Given the description of an element on the screen output the (x, y) to click on. 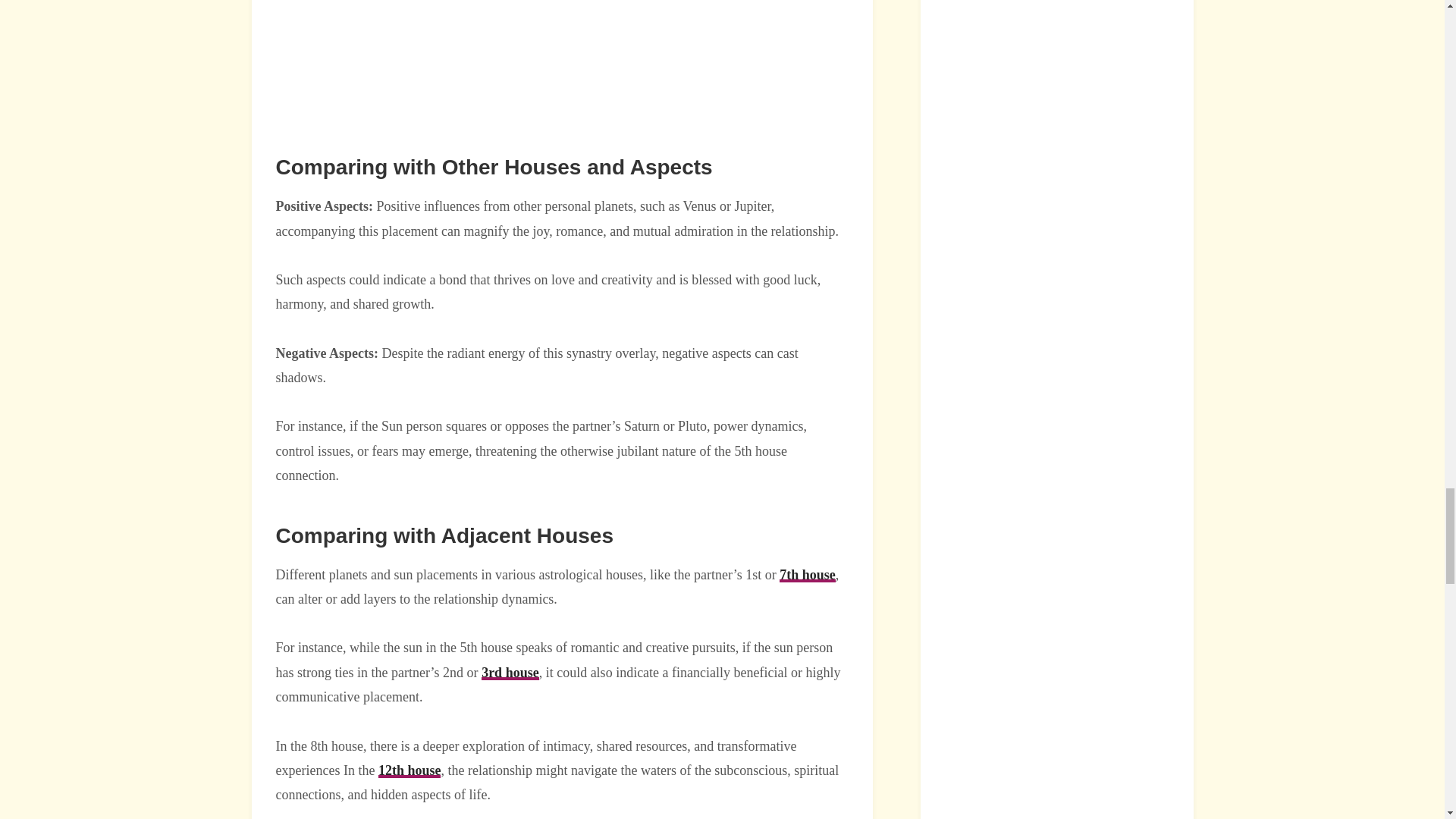
7th house (806, 574)
12th house (409, 770)
3rd house (509, 672)
7th house (806, 574)
